Given the description of an element on the screen output the (x, y) to click on. 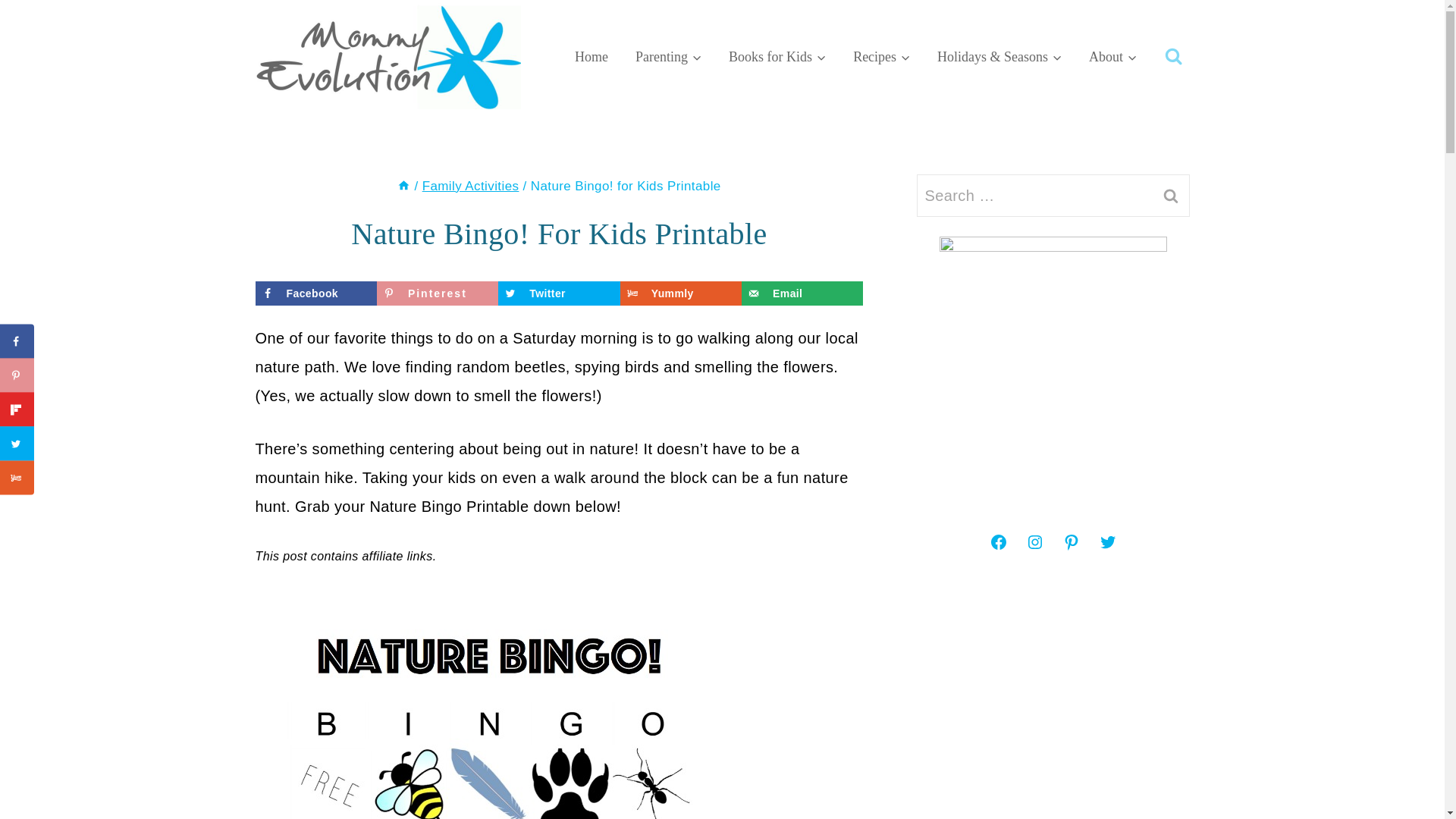
Send over email (802, 293)
Share on Yummly (680, 293)
Search (1170, 195)
Home (590, 56)
Books for Kids (777, 56)
Home (403, 186)
Search (1170, 195)
Save to Pinterest (437, 293)
Share on Facebook (16, 341)
Recipes (881, 56)
Parenting (667, 56)
Share on Twitter (558, 293)
Share on Facebook (314, 293)
